Given the description of an element on the screen output the (x, y) to click on. 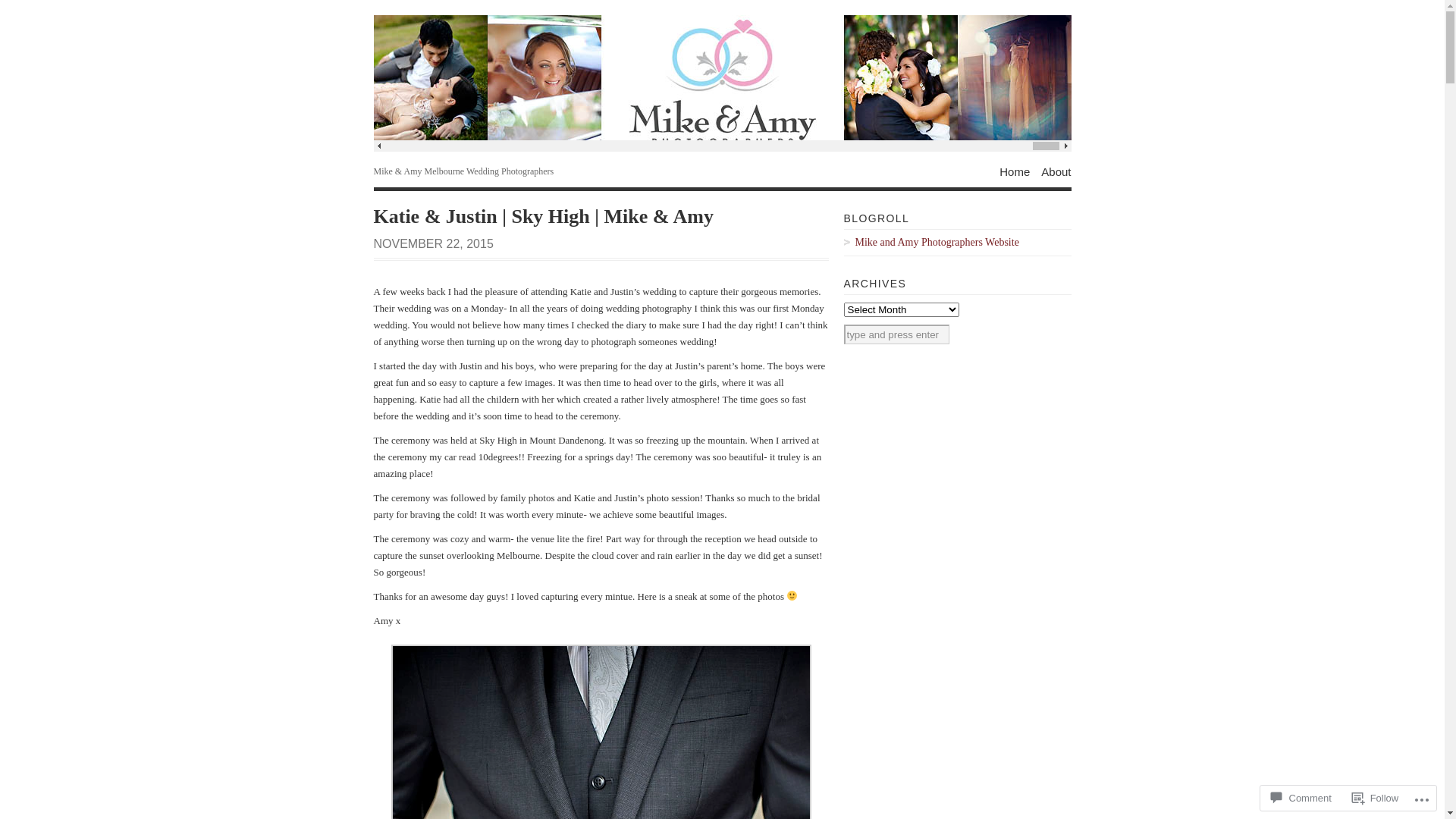
Follow Element type: text (1375, 797)
About Element type: text (1055, 170)
Mike and Amy Photographers Website Element type: text (956, 242)
Comment Element type: text (1300, 797)
Home Element type: text (1014, 170)
